Given the description of an element on the screen output the (x, y) to click on. 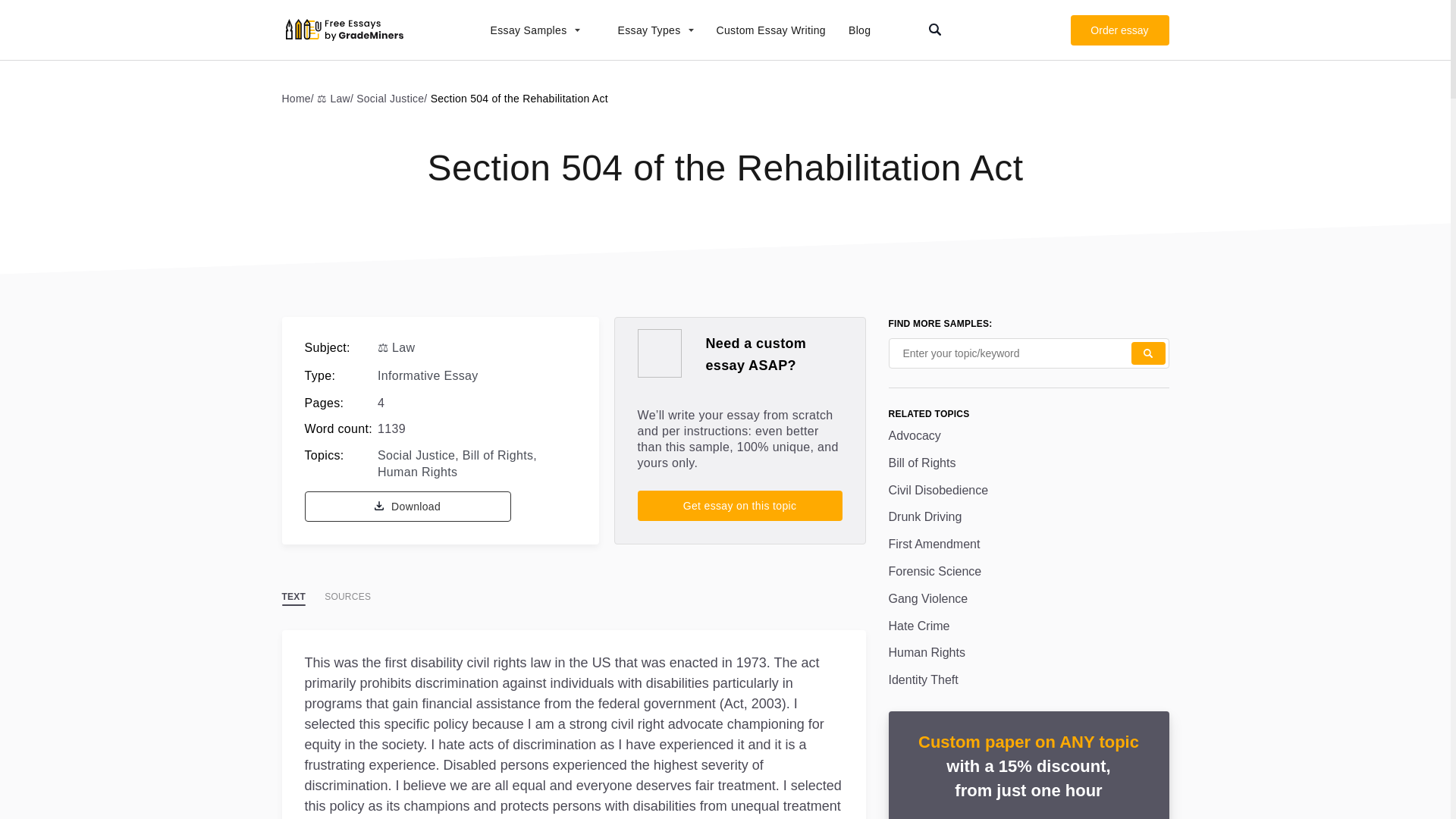
Search (1148, 353)
Go to the Social Justice Example Category archives. (392, 97)
Essay Samples (526, 30)
Essay Types (648, 30)
Go to Examples. (299, 97)
